Given the description of an element on the screen output the (x, y) to click on. 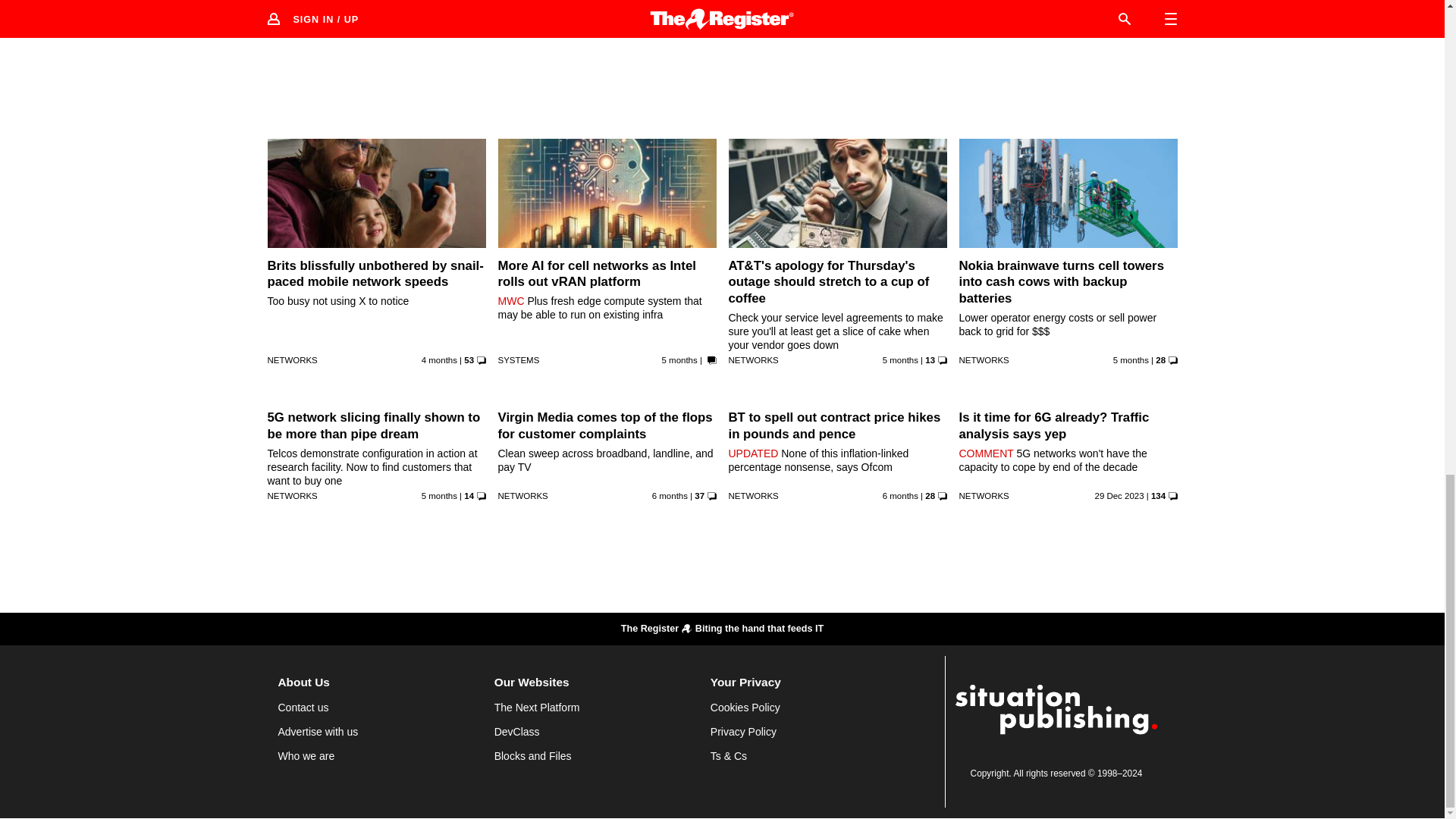
5 Jun 2024 10:27 (671, 5)
20 Mar 2024 9:30 (439, 359)
4 Apr 2024 11:30 (900, 5)
8 Feb 2024 13:15 (439, 495)
26 Feb 2024 13:30 (679, 359)
26 Jan 2024 10:25 (669, 495)
22 Feb 2024 18:17 (1130, 359)
19 Jun 2024 14:30 (441, 5)
26 Feb 2024 13:9 (900, 359)
